Given the description of an element on the screen output the (x, y) to click on. 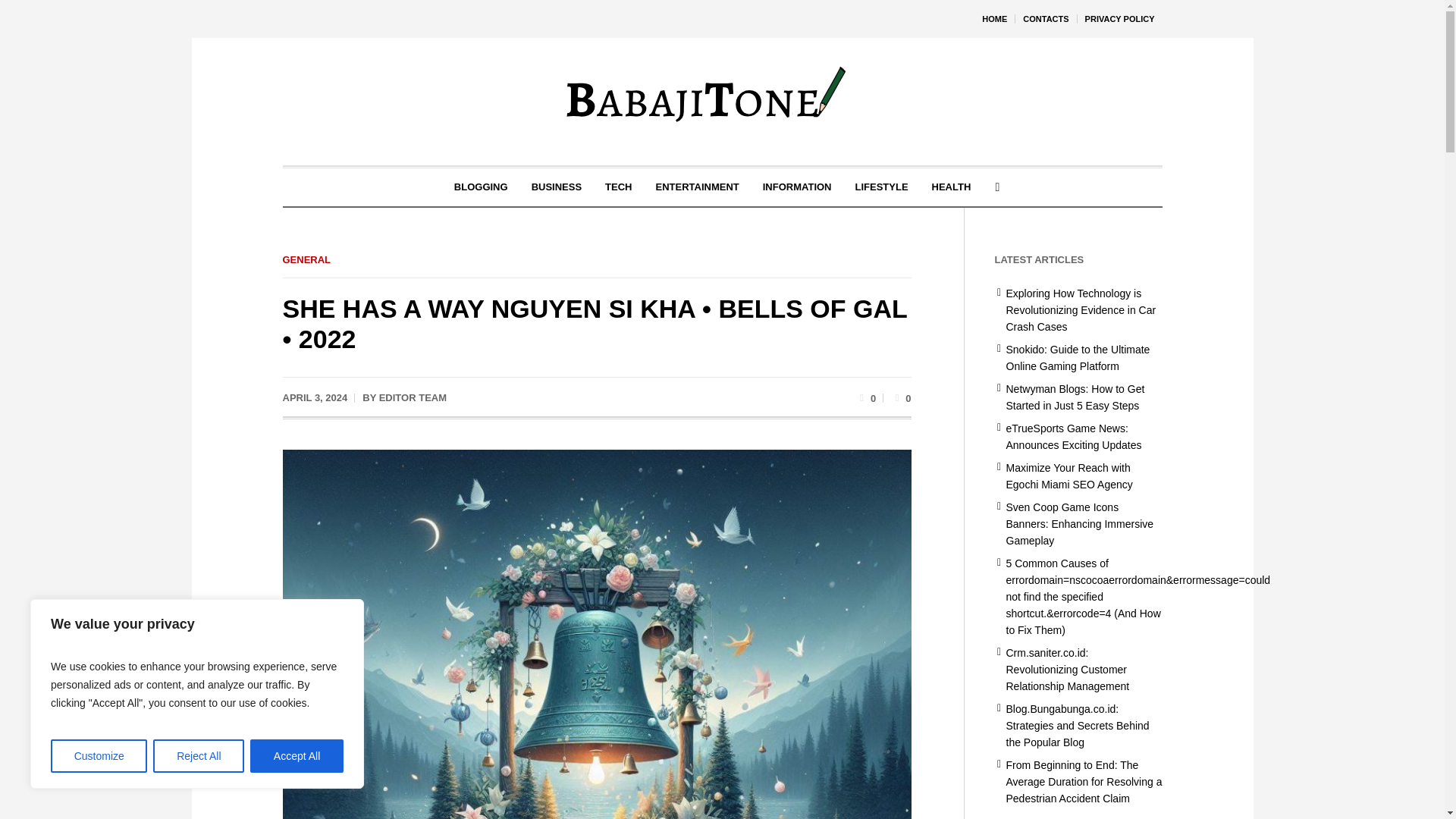
CONTACTS (1044, 18)
HEALTH (951, 187)
BLOGGING (480, 187)
TECH (618, 187)
LIFESTYLE (880, 187)
Accept All (296, 756)
EDITOR TEAM (412, 397)
GENERAL (306, 259)
0 (866, 397)
Posts by Editor Team (412, 397)
